Given the description of an element on the screen output the (x, y) to click on. 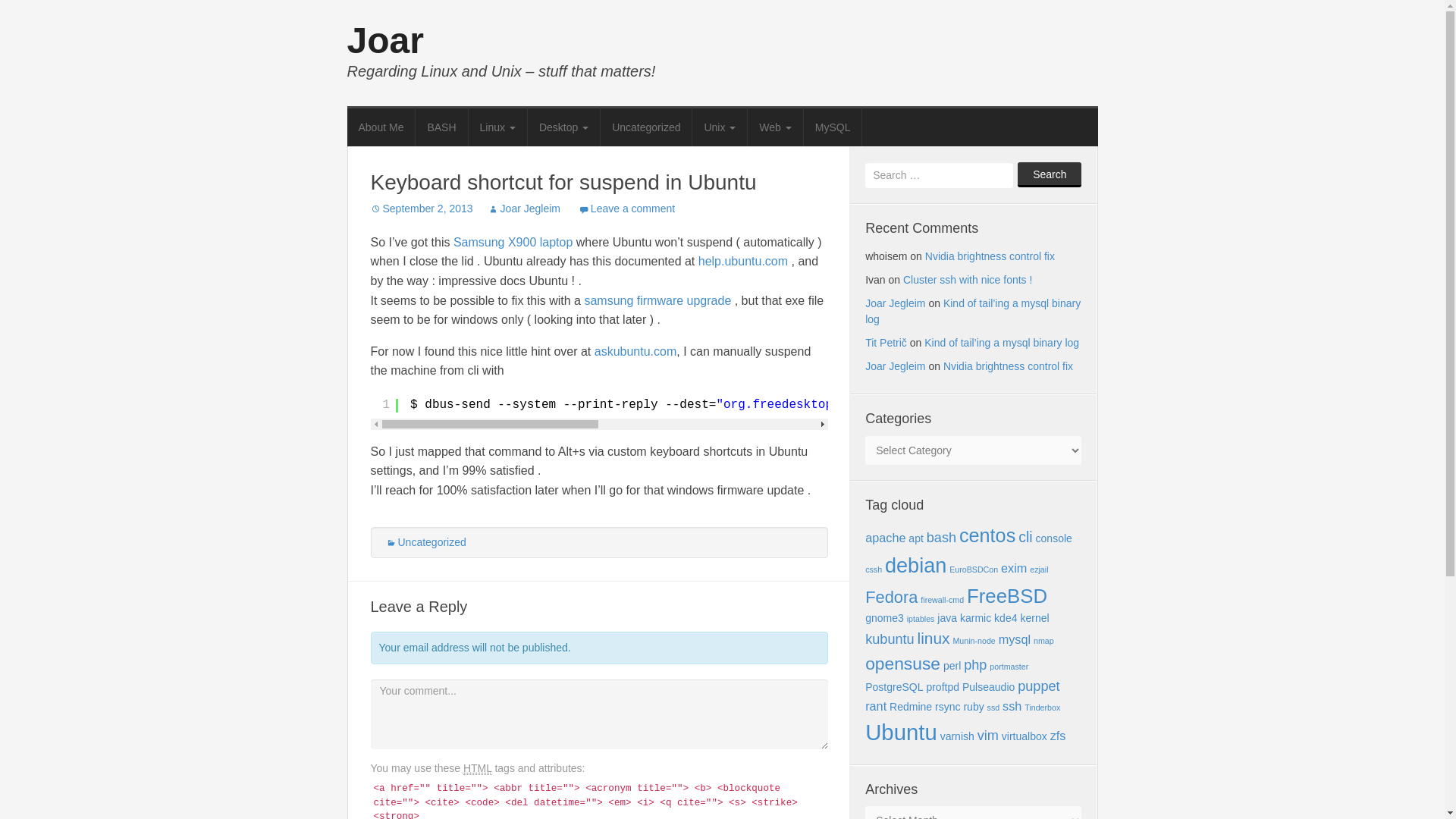
Joar (385, 40)
September 2, 2013 (420, 208)
Joar Jegleim (894, 303)
Joar (385, 40)
Desktop (563, 126)
Cluster ssh with nice fonts ! (967, 279)
askubuntu.com (635, 350)
Samsung X900 laptop (512, 241)
Uncategorized (425, 541)
Leave a comment (626, 208)
Linux (497, 126)
Unix (720, 126)
samsung firmware upgrade (656, 300)
BASH (440, 126)
Web (775, 126)
